Given the description of an element on the screen output the (x, y) to click on. 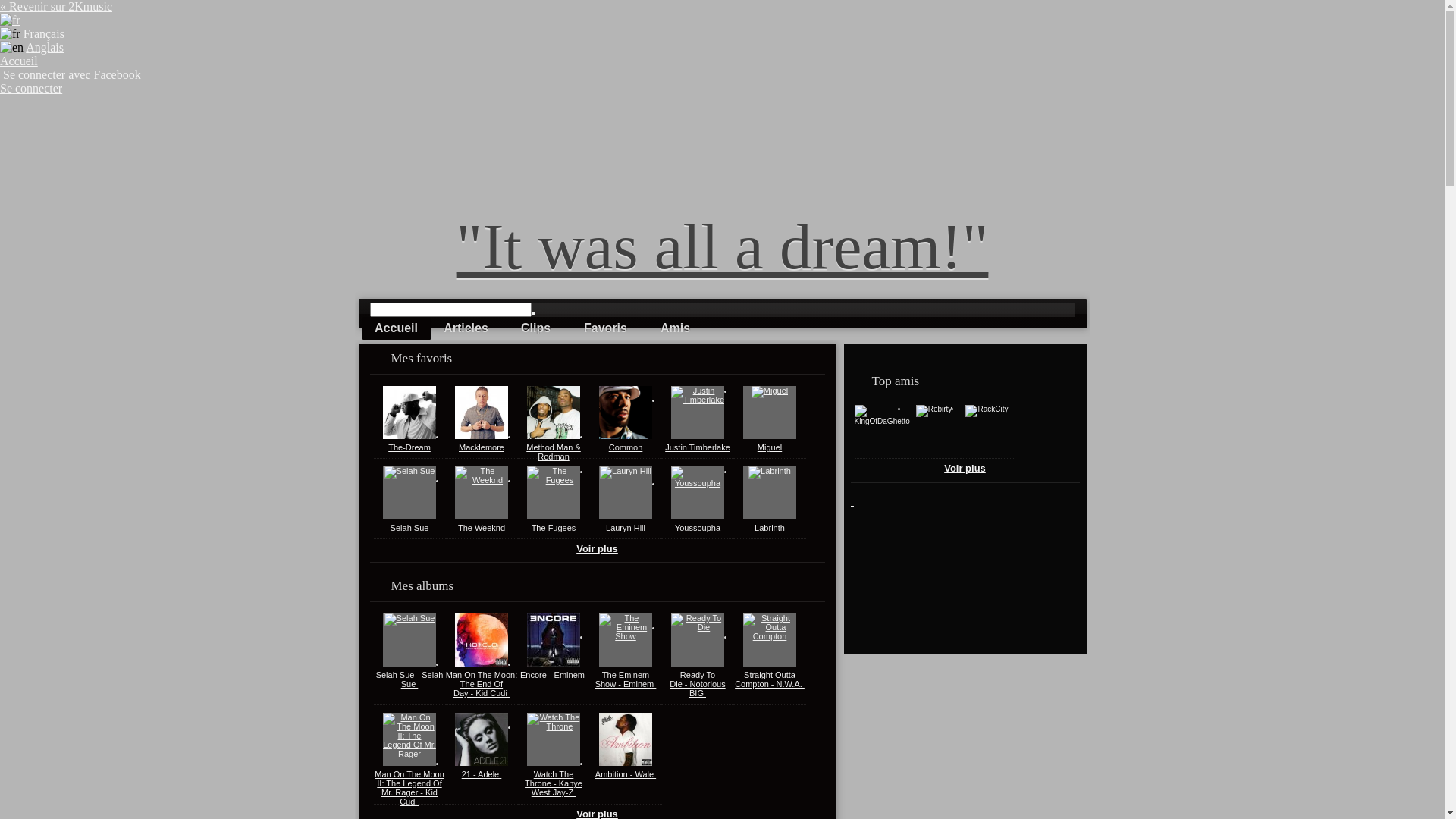
Watch The Throne - Kanye West Jay-Z  Element type: text (553, 783)
Selah Sue Element type: text (409, 527)
Articles Element type: text (466, 327)
Anglais Element type: text (44, 46)
Justin Timberlake Element type: text (697, 446)
The Eminem Show - Eminem  Element type: text (625, 679)
The-Dream Element type: text (409, 446)
Common Element type: text (625, 446)
Amis Element type: text (675, 327)
Selah Sue - Selah Sue  Element type: text (409, 679)
Youssoupha Element type: text (697, 527)
Man On The Moon: The End Of Day - Kid Cudi  Element type: text (481, 683)
Miguel Element type: text (769, 446)
21 - Adele  Element type: text (481, 773)
Straight Outta Compton - N.W.A.  Element type: text (769, 679)
"It was all a dream!" Element type: text (722, 246)
Ready To Die - Notorious BIG  Element type: text (696, 683)
Se connecter Element type: text (31, 87)
Accueil Element type: text (396, 327)
Macklemore Element type: text (481, 446)
Voir plus Element type: text (597, 548)
RackCity Element type: hover (986, 408)
Rebirty Element type: hover (934, 408)
Clips Element type: text (536, 327)
Lauryn Hill Element type: text (625, 527)
Ambition - Wale  Element type: text (625, 773)
Labrinth Element type: text (769, 527)
Favoris Element type: text (605, 327)
The Weeknd Element type: text (481, 527)
  Element type: text (851, 500)
Man On The Moon II: The Legend Of Mr. Rager - Kid Cudi  Element type: text (409, 787)
Accueil Element type: text (18, 60)
The Fugees Element type: text (553, 527)
 Se connecter avec Facebook Element type: text (70, 74)
Voir plus Element type: text (964, 467)
Method Man & Redman Element type: text (553, 451)
Encore - Eminem  Element type: text (553, 674)
KingOfDaGhetto Element type: hover (881, 421)
